Given the description of an element on the screen output the (x, y) to click on. 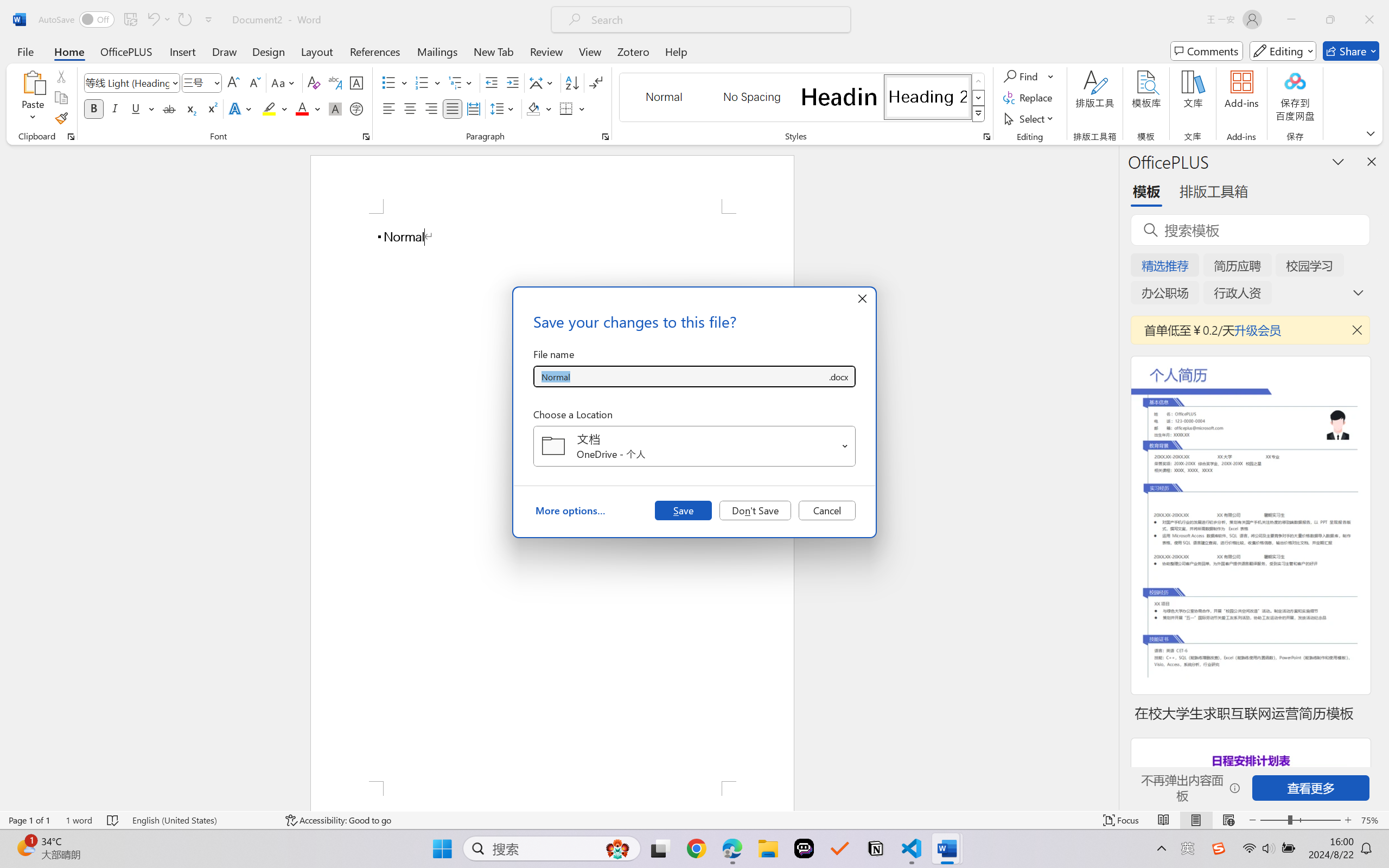
AutomationID: BadgeAnchorLargeTicker (24, 847)
Clear Formatting (313, 82)
Poe (804, 848)
Cancel (826, 509)
File Tab (24, 51)
Row up (978, 81)
Find (1022, 75)
Text Highlight Color Yellow (269, 108)
Align Left (388, 108)
Enclose Characters... (356, 108)
Center (409, 108)
Ribbon Display Options (1370, 132)
